Given the description of an element on the screen output the (x, y) to click on. 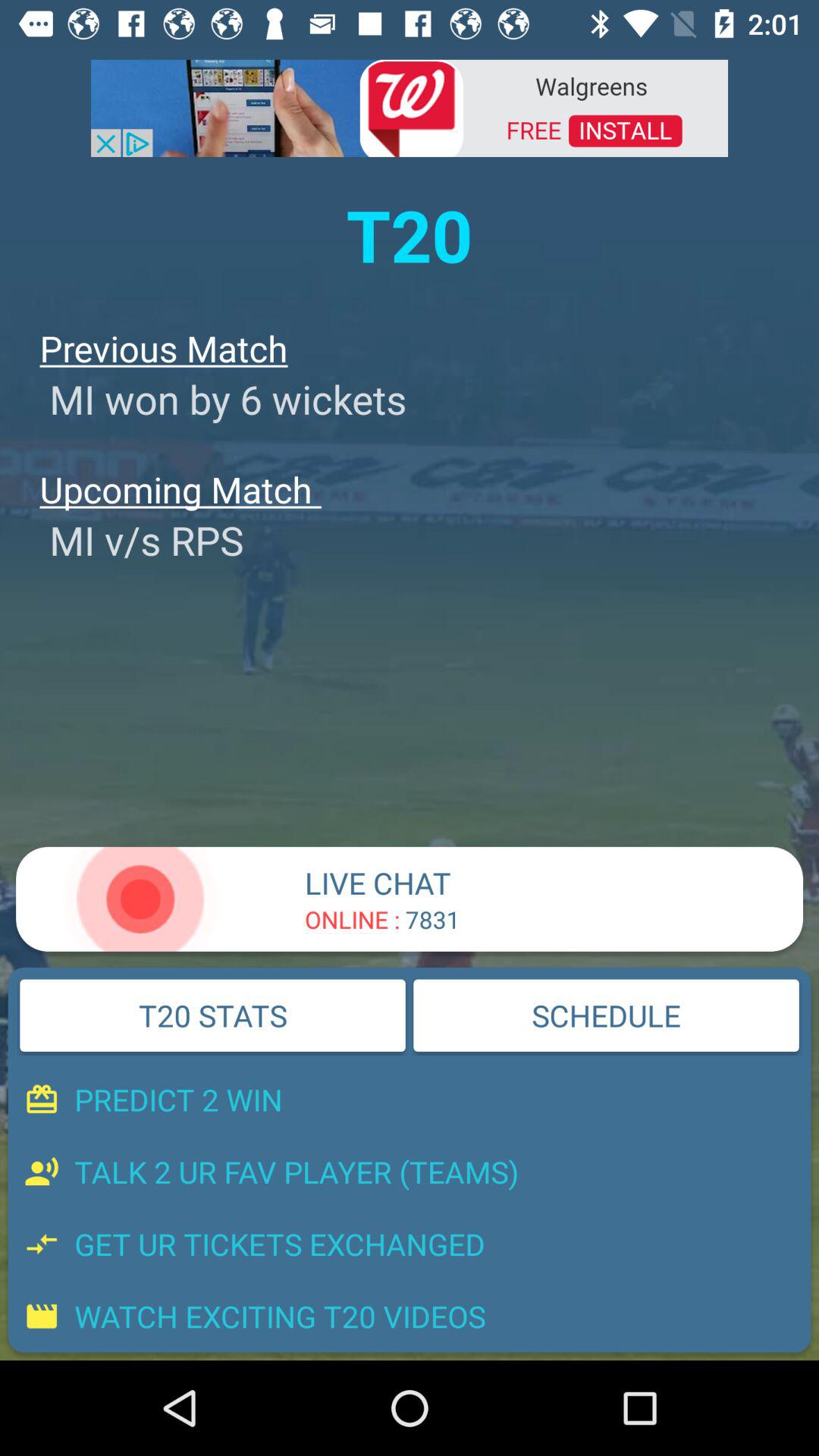
advertisement for walgreens (409, 106)
